Given the description of an element on the screen output the (x, y) to click on. 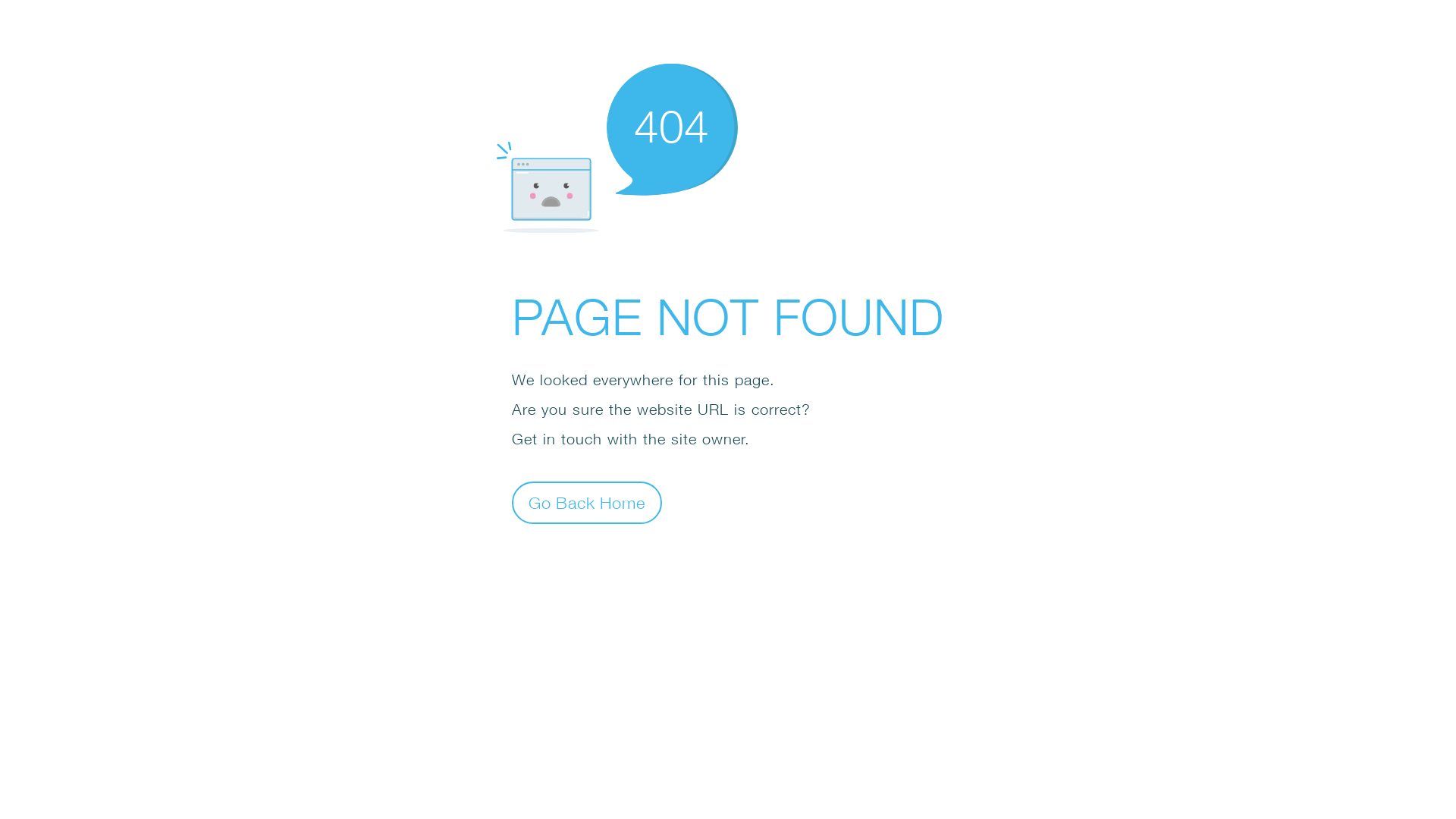
Go Back Home Element type: text (586, 502)
